Given the description of an element on the screen output the (x, y) to click on. 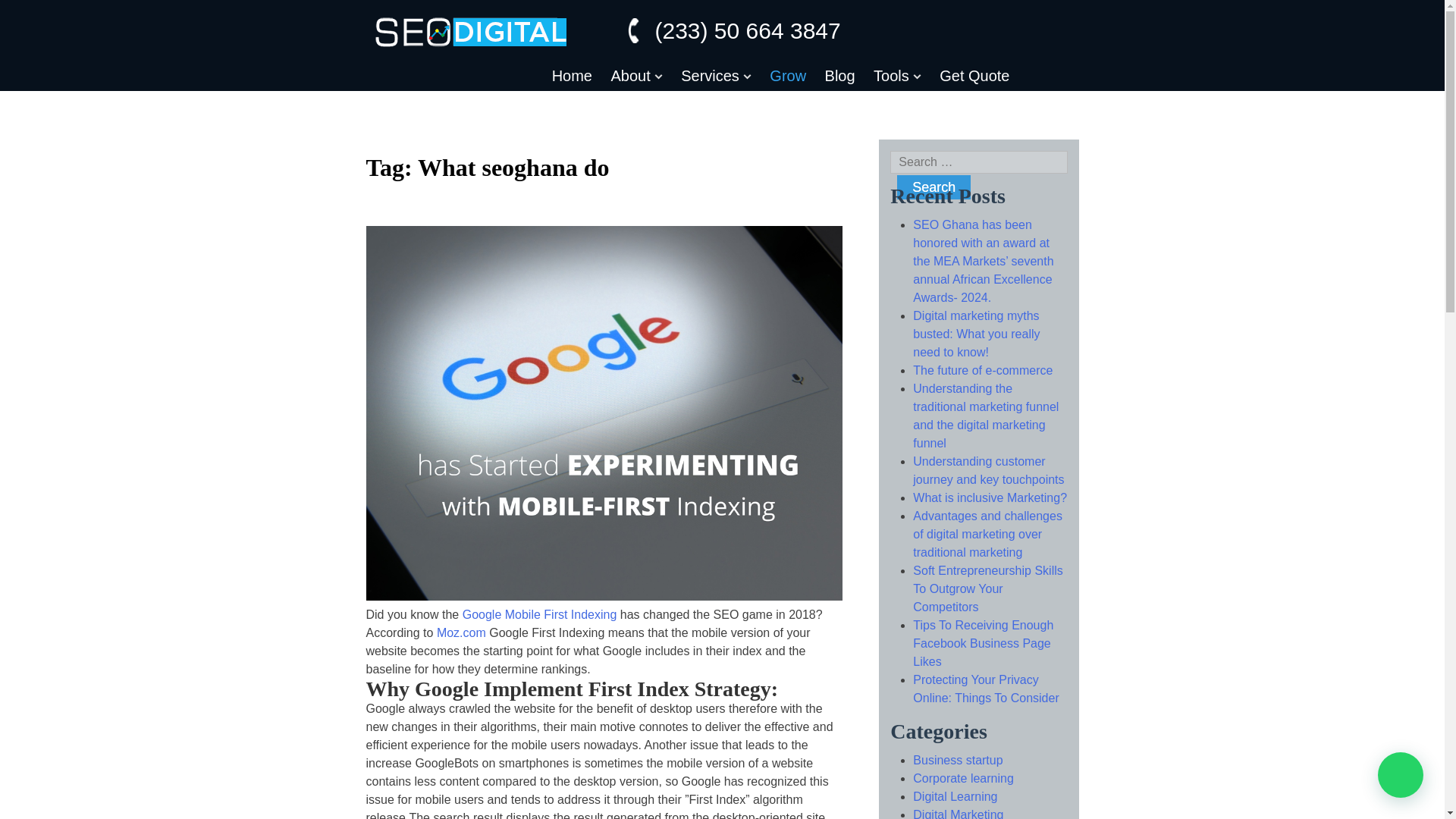
Home (571, 75)
Get Quote (974, 75)
About (636, 78)
Search (933, 187)
Blog (840, 75)
Search (933, 187)
Grow (788, 75)
Search (933, 187)
Services (716, 78)
Moz.com (461, 632)
Google Mobile First Indexing (540, 614)
Tools (897, 78)
